Given the description of an element on the screen output the (x, y) to click on. 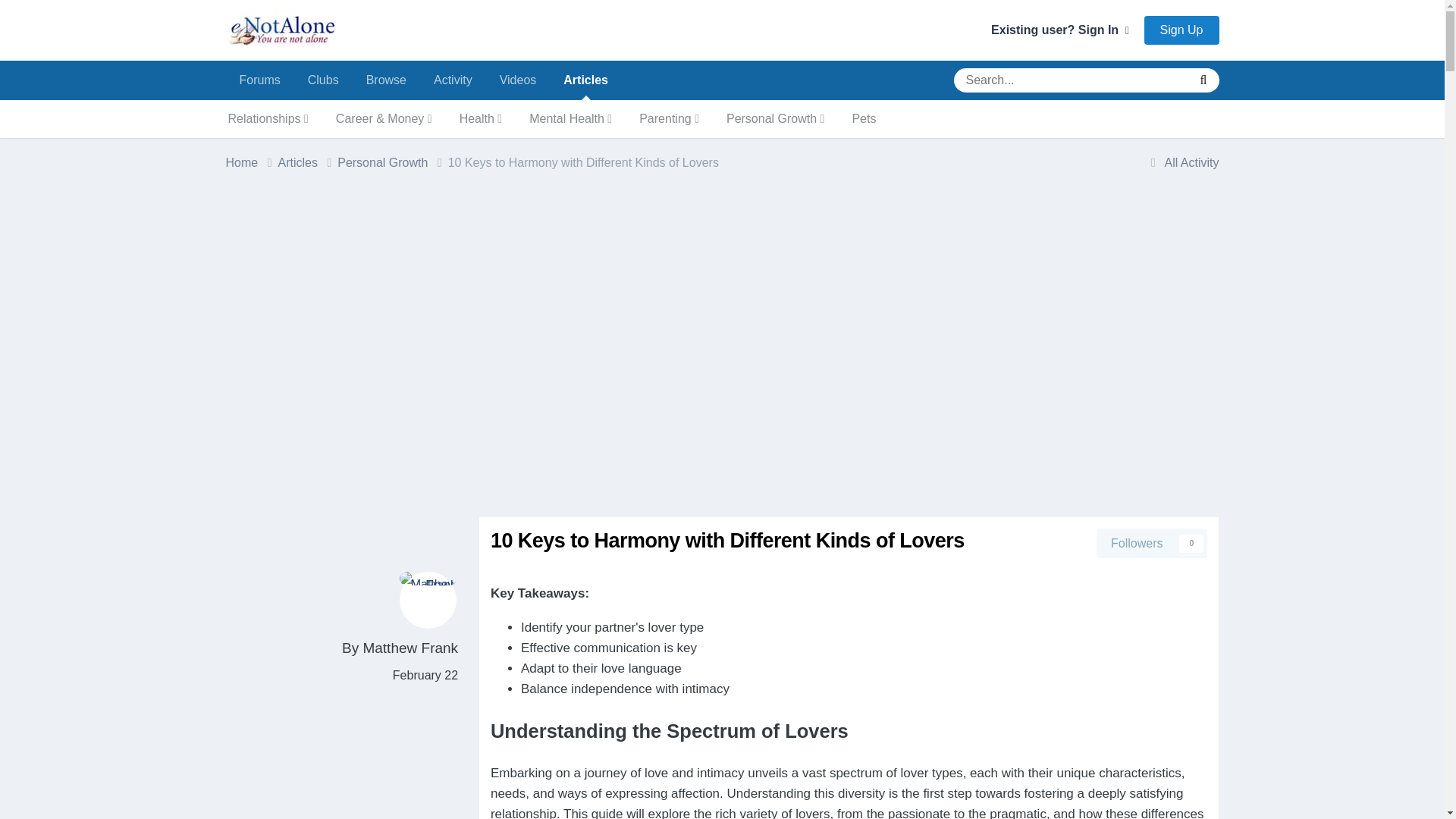
Videos (518, 79)
Go to Matthew Frank's profile (410, 647)
Activity (453, 79)
Sign Up (1182, 30)
Forums (259, 79)
Go to Matthew Frank's profile (427, 599)
Home (251, 162)
Existing user? Sign In   (1060, 29)
Relationships (267, 118)
Clubs (323, 79)
